Given the description of an element on the screen output the (x, y) to click on. 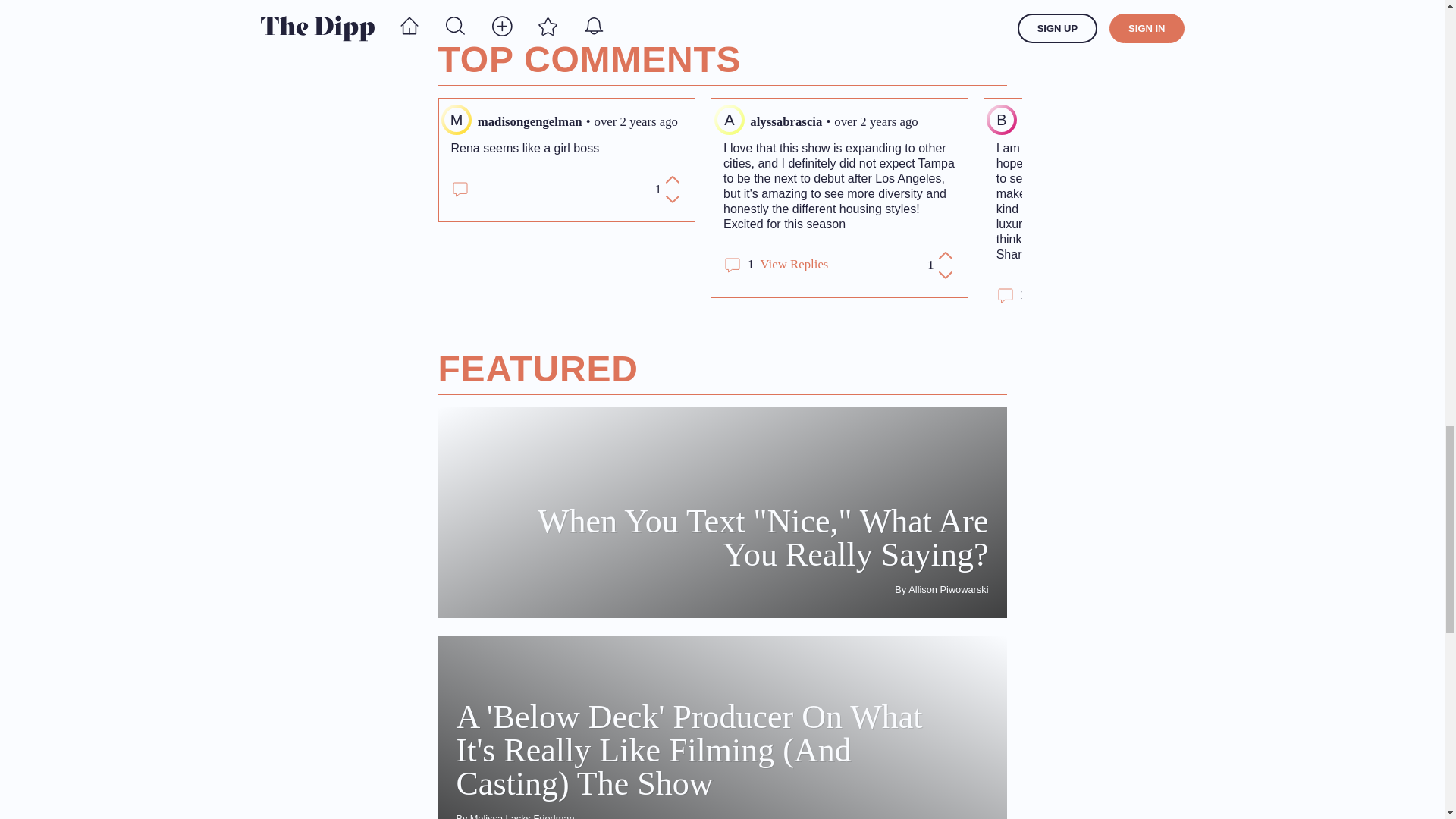
M (456, 119)
alyssabrascia (785, 121)
over 2 years ago (1141, 121)
View Replies (793, 263)
A (729, 119)
over 2 years ago (875, 121)
Rena seems like a girl boss (565, 148)
B (1001, 119)
madisongengelman (529, 121)
